Given the description of an element on the screen output the (x, y) to click on. 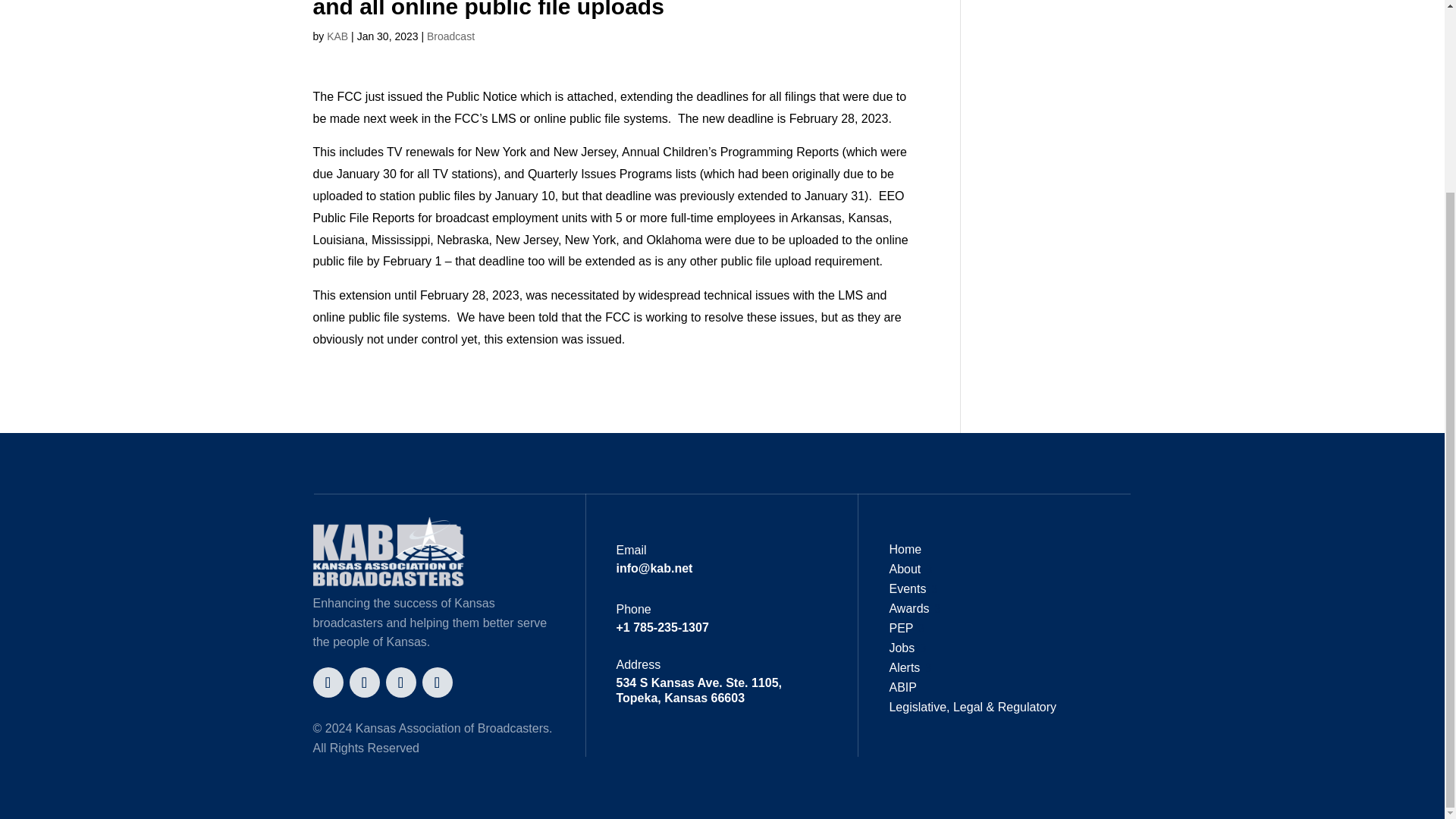
Posts by KAB (336, 36)
KAB logo grey (388, 551)
Follow on Facebook (363, 682)
Follow on LinkedIn (436, 682)
Follow on Instagram (399, 682)
Follow on X (327, 682)
